Given the description of an element on the screen output the (x, y) to click on. 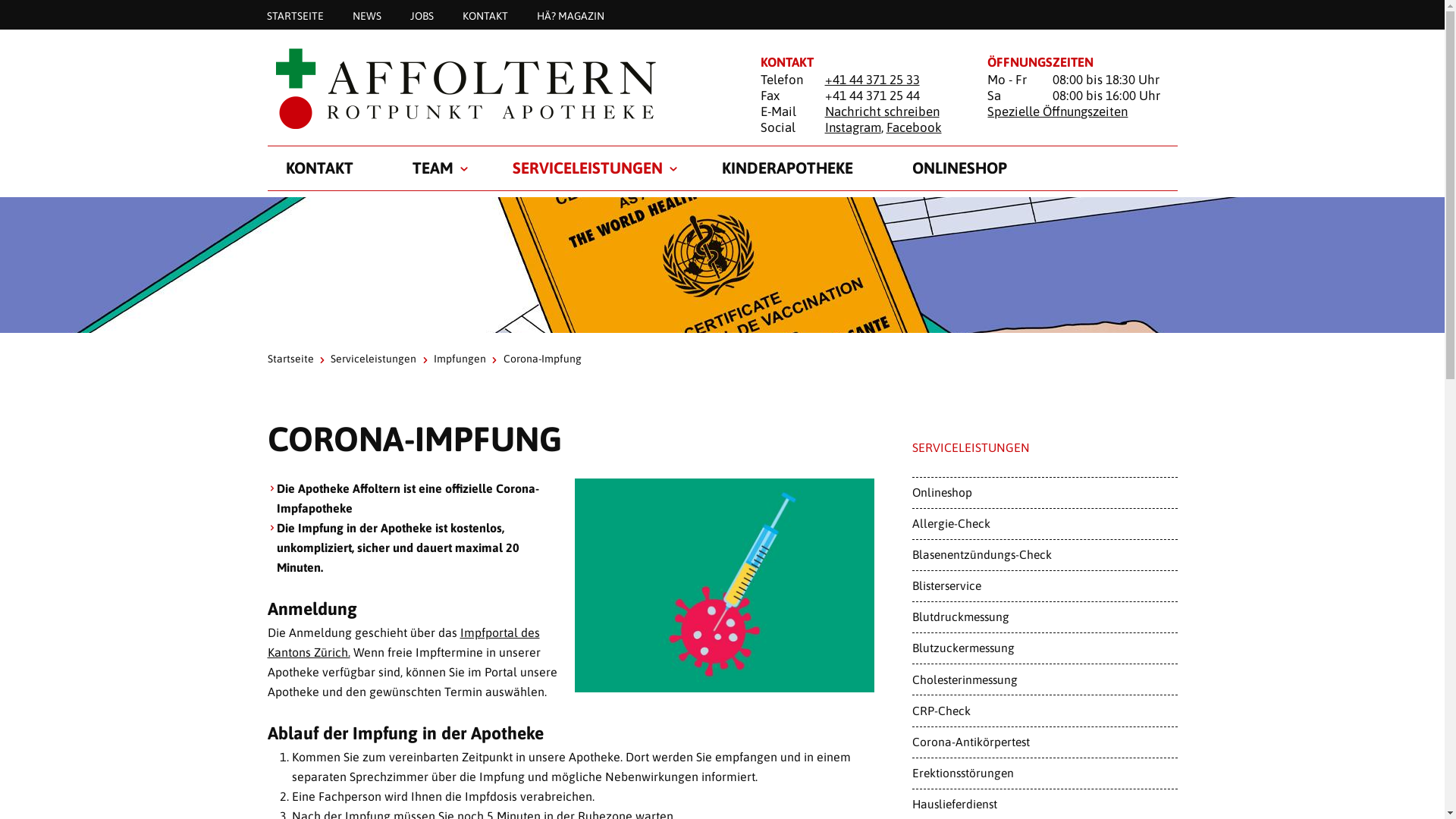
KONTAKT Element type: text (318, 168)
KINDERAPOTHEKE Element type: text (787, 168)
Blisterservice Element type: text (1043, 586)
TEAM Element type: text (432, 168)
Allergie-Check Element type: text (1043, 523)
Impfungen Element type: text (459, 358)
Cholesterinmessung Element type: text (1043, 679)
+41 44 371 25 33 Element type: text (872, 79)
KONTAKT Element type: text (484, 15)
Startseite Element type: text (289, 358)
Startseite Element type: hover (493, 88)
Facebook Element type: text (913, 126)
STARTSEITE Element type: text (294, 15)
Nachricht schreiben Element type: text (882, 111)
ONLINESHOP Element type: text (958, 168)
Instagram Element type: text (853, 126)
Serviceleistungen Element type: text (373, 358)
SERVICELEISTUNGEN Element type: text (587, 168)
JOBS Element type: text (421, 15)
NEWS Element type: text (366, 15)
CRP-Check Element type: text (1043, 710)
Onlineshop Element type: text (1043, 492)
Blutdruckmessung Element type: text (1043, 617)
Blutzuckermessung Element type: text (1043, 648)
